Given the description of an element on the screen output the (x, y) to click on. 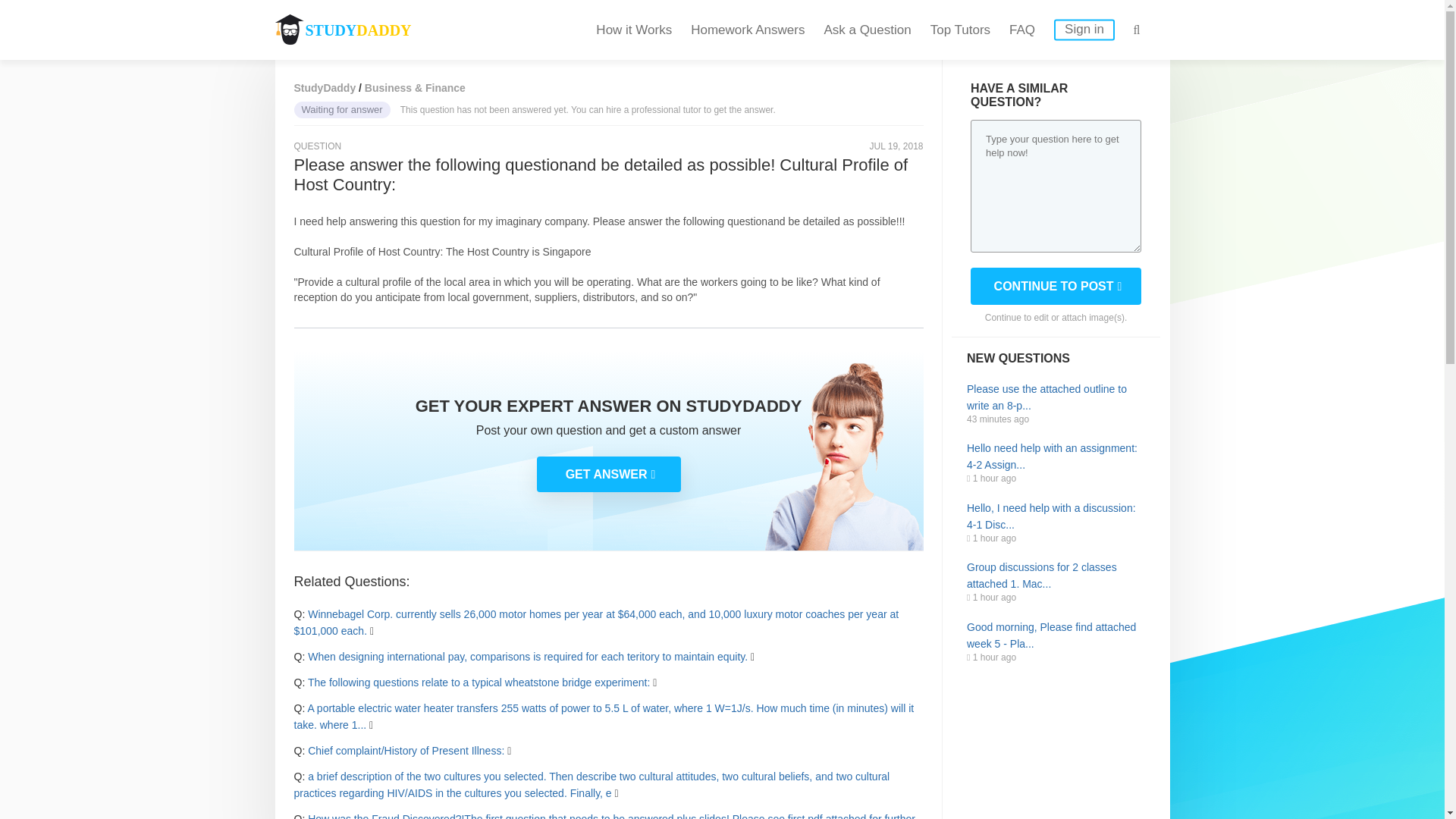
StudyDaddy (325, 87)
Please use the attached outline to write an 8-p... (1055, 397)
GET ANSWER (609, 474)
Good morning, Please find attached week 5 - Pla... (1055, 635)
Homework Answers (747, 29)
StudyDaddy (325, 87)
Sign in (1084, 29)
Top Tutors (960, 29)
CONTINUE TO POST (1056, 285)
STUDYDADDY (342, 29)
How it Works (633, 29)
Hello need help with an assignment: 4-2 Assign... (1055, 456)
Hello, I need help with a discussion: 4-1 Disc... (1055, 516)
